Given the description of an element on the screen output the (x, y) to click on. 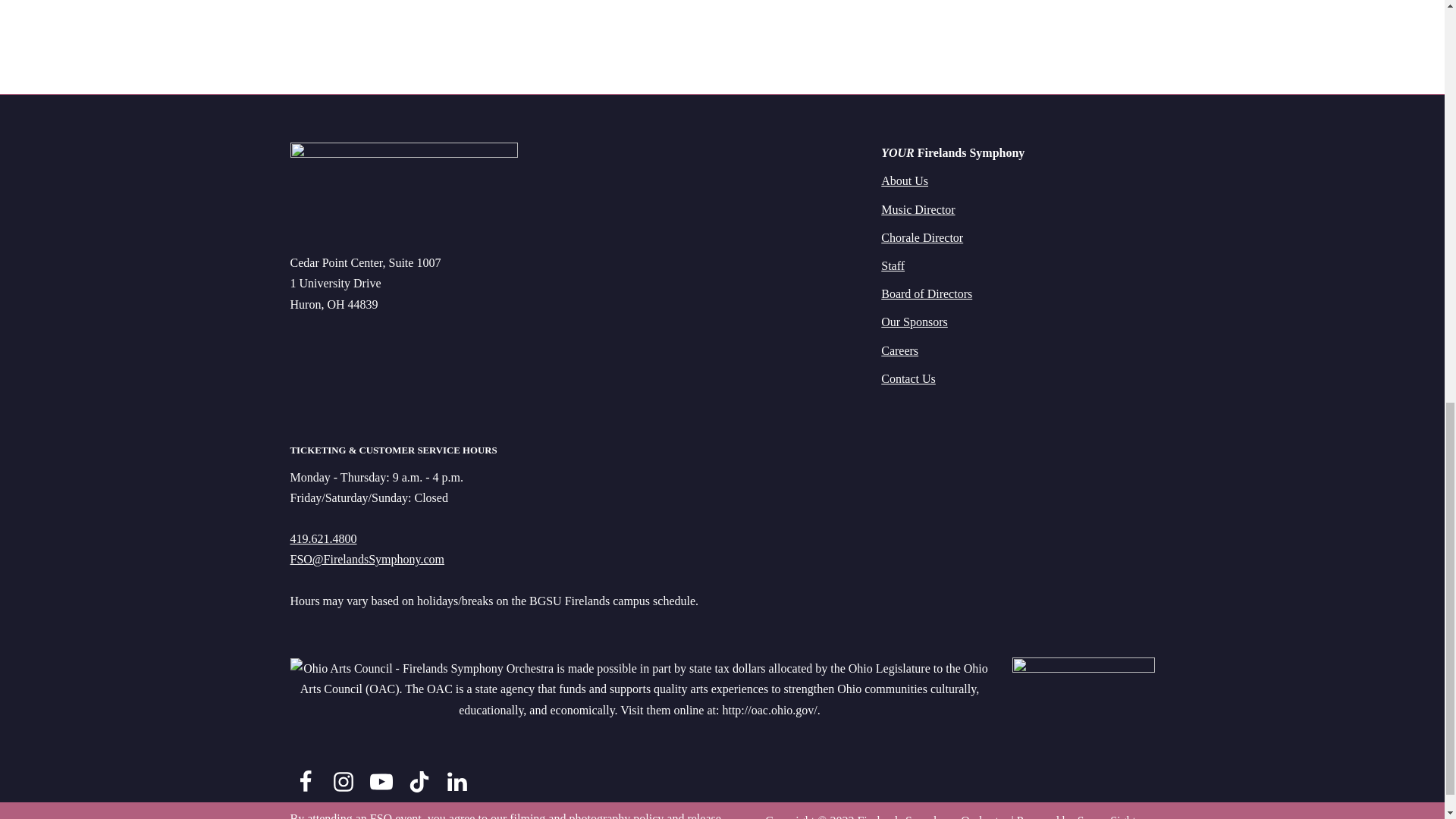
Instagram (342, 781)
Youtube (380, 781)
TikTok (418, 781)
LinkedIn (456, 781)
Facebook (304, 781)
